Given the description of an element on the screen output the (x, y) to click on. 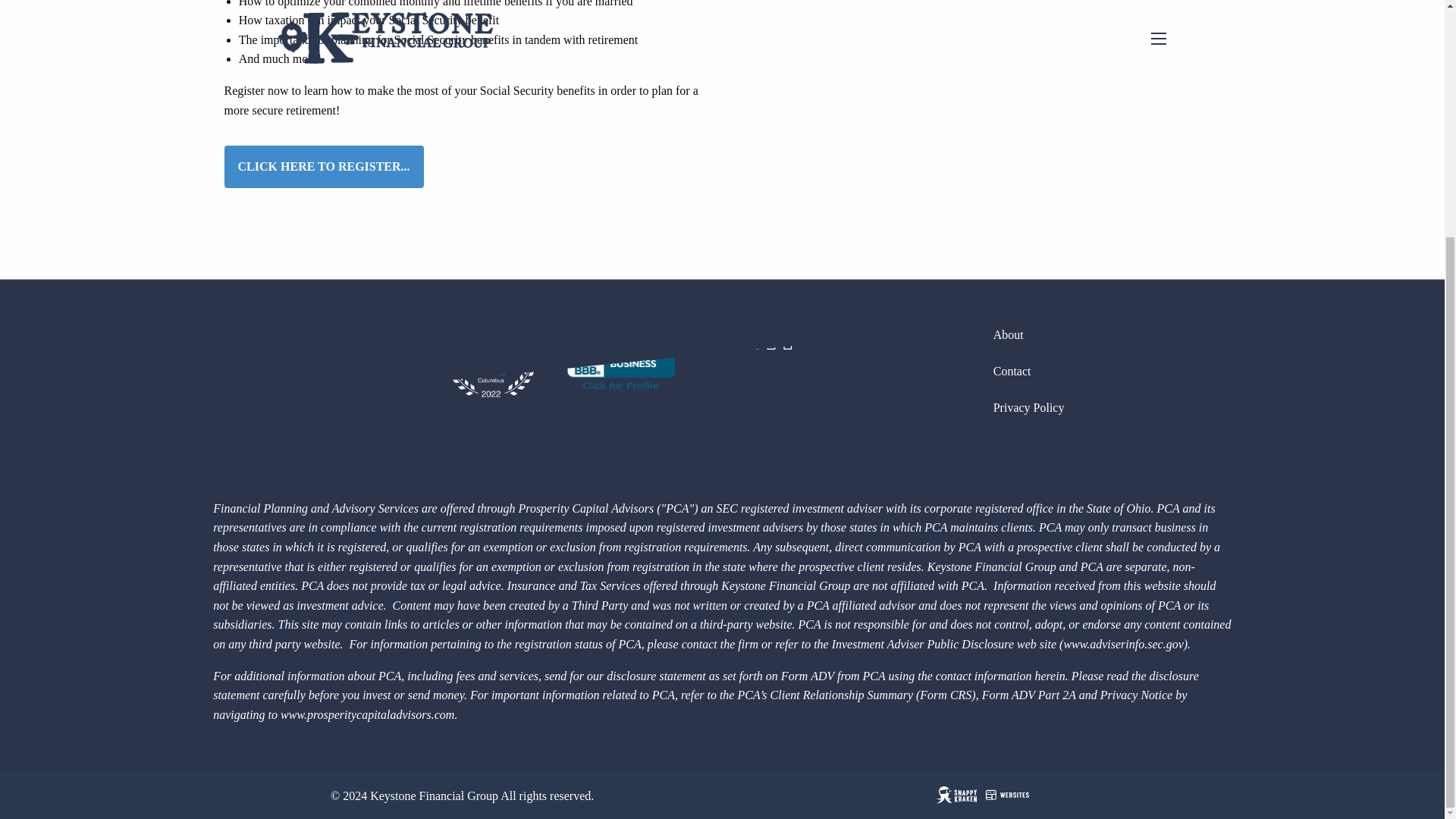
www.adviserinfo.sec.gov (1122, 644)
www.prosperitycapitaladvisors.com (367, 714)
Prosperity Capital Advisors (367, 714)
SEC.gov (1122, 644)
Contact (1111, 370)
About (1111, 334)
Privacy Policy (1111, 407)
CLICK HERE TO REGISTER... (323, 167)
